Given the description of an element on the screen output the (x, y) to click on. 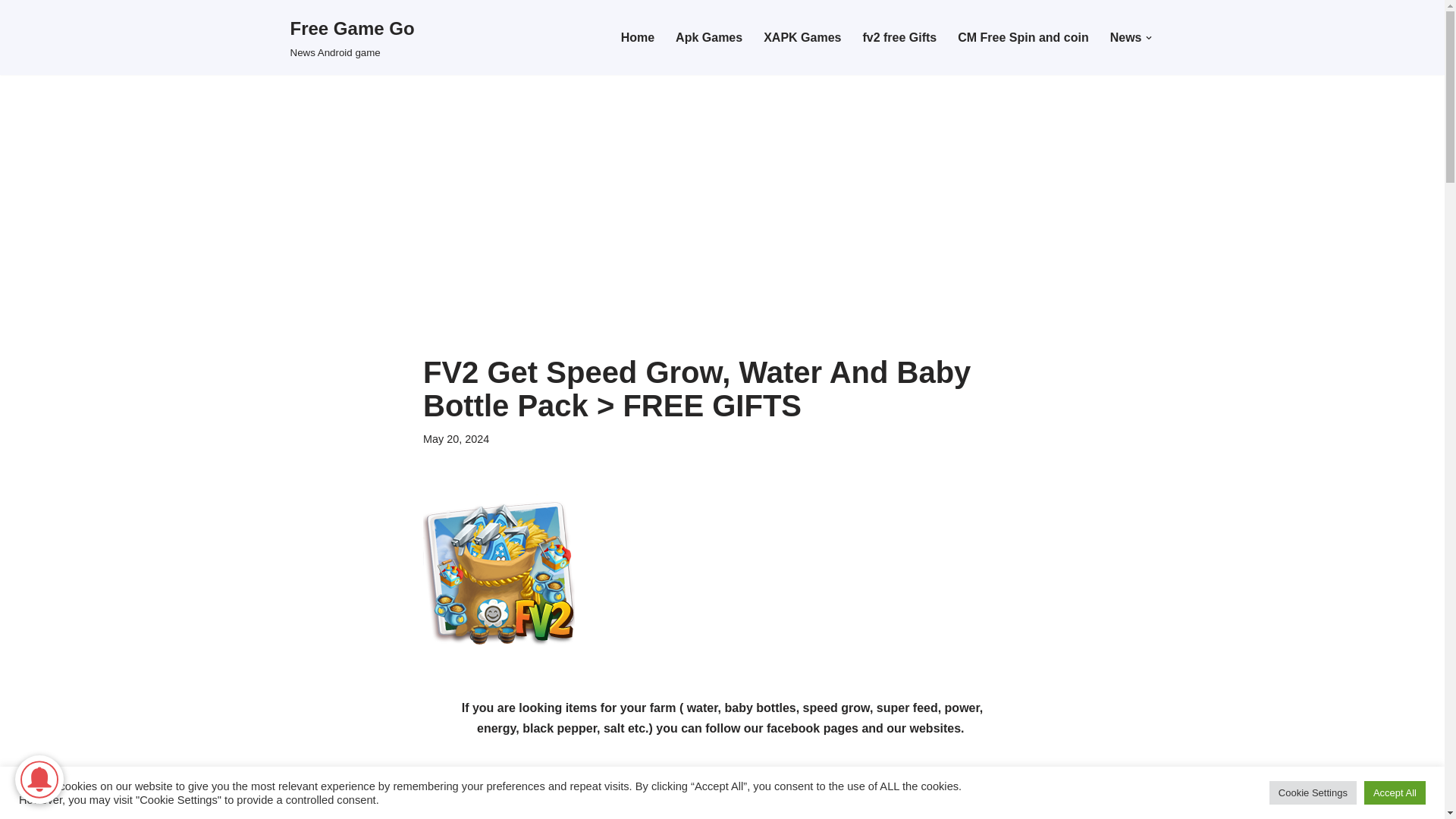
Skip to content (11, 31)
fv2 free Gifts (898, 37)
Apk Games (708, 37)
News (1125, 37)
Home (637, 37)
Navigation Menu (351, 37)
XAPK Games (722, 226)
CM Free Spin and coin (801, 37)
